Given the description of an element on the screen output the (x, y) to click on. 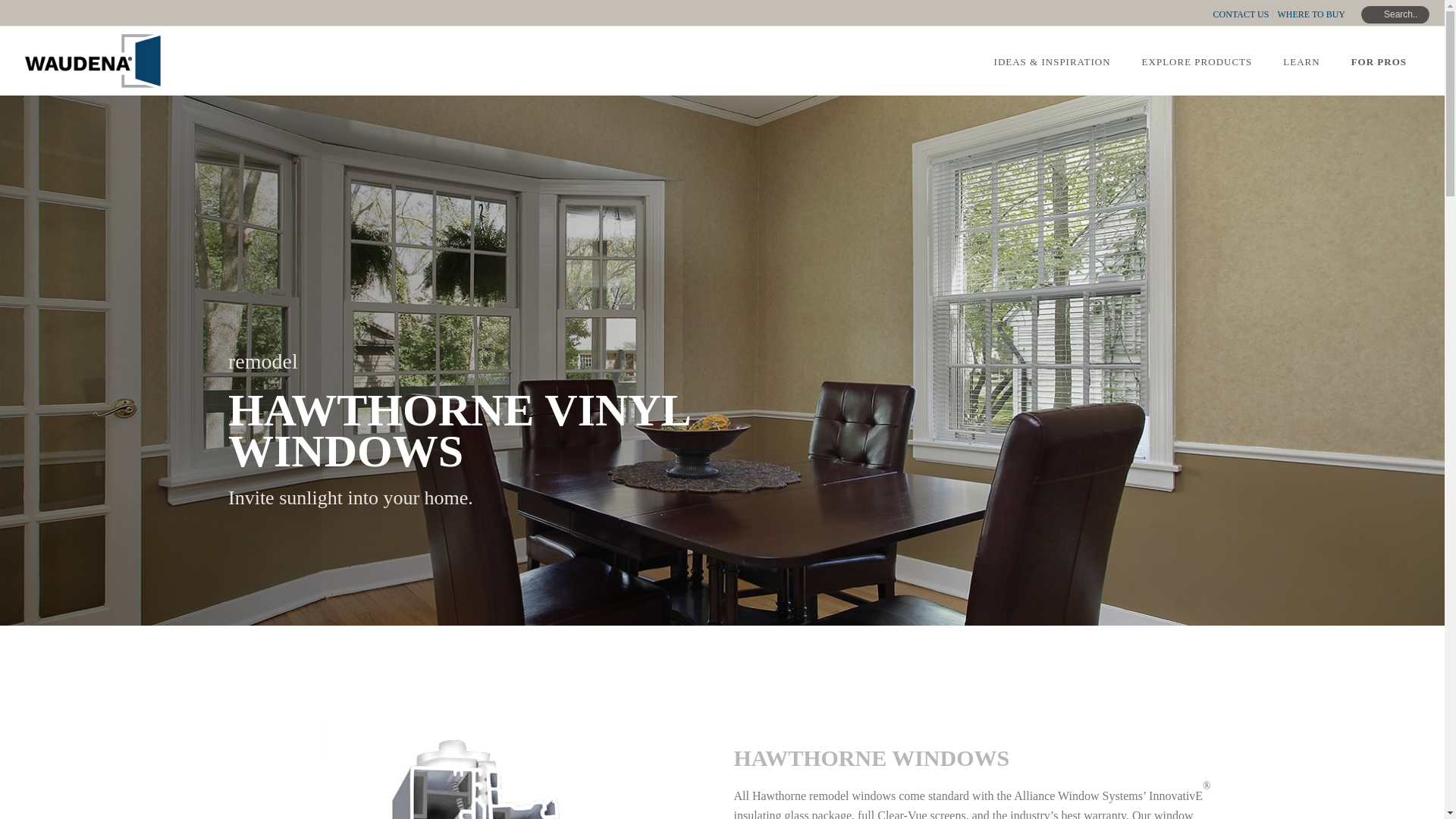
EXPLORE PRODUCTS (1197, 60)
CONTACT US (1241, 14)
LEARN (1301, 60)
FOR PROS (1379, 60)
WHERE TO BUY (1310, 14)
Quality Home Improvement Products (92, 60)
EXPLORE PRODUCTS (1197, 60)
LEARN (1301, 60)
FOR PROS (1379, 60)
